Given the description of an element on the screen output the (x, y) to click on. 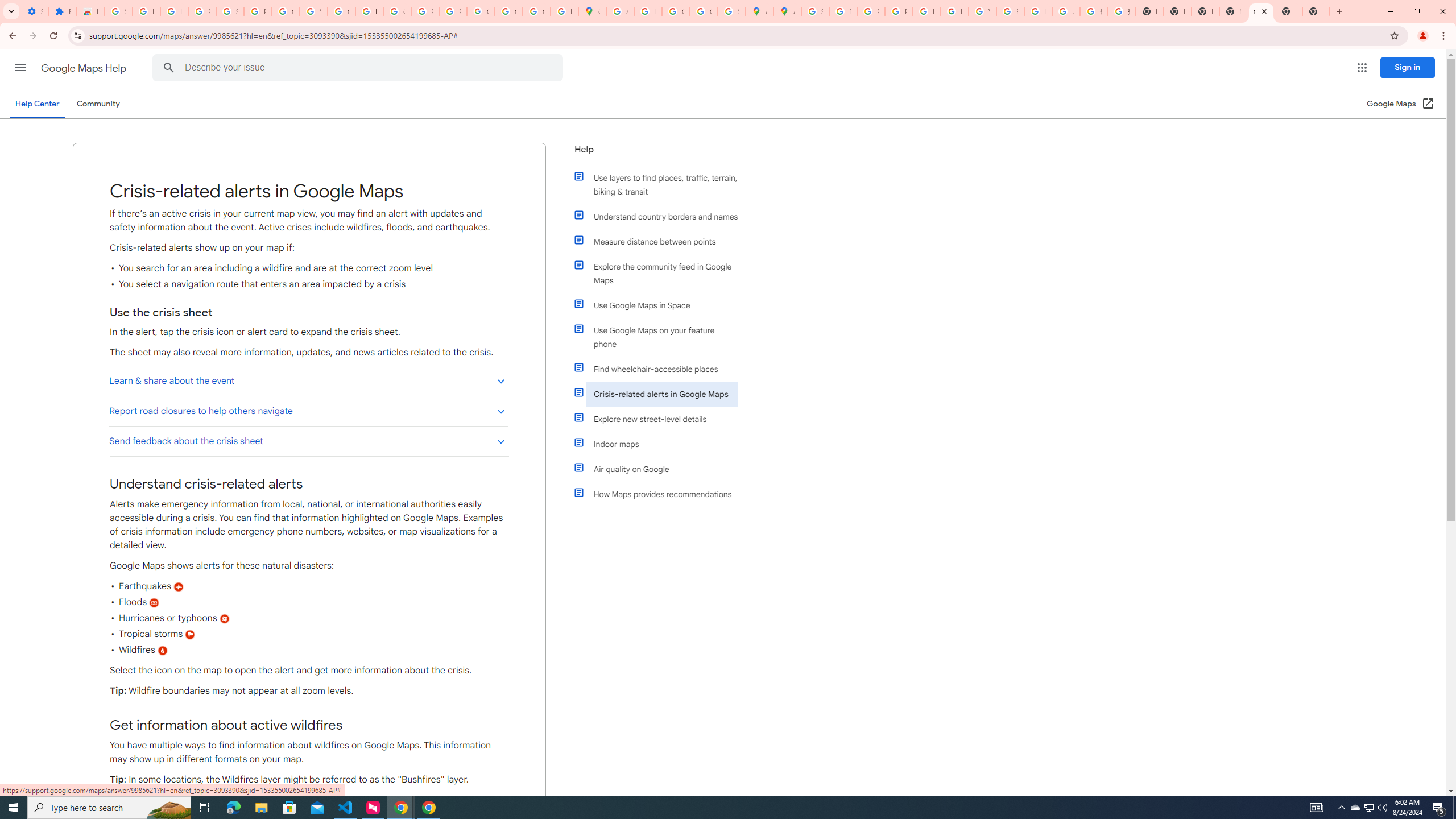
Main menu (20, 67)
Indoor maps (661, 444)
Learn & share about the event (308, 380)
